Given the description of an element on the screen output the (x, y) to click on. 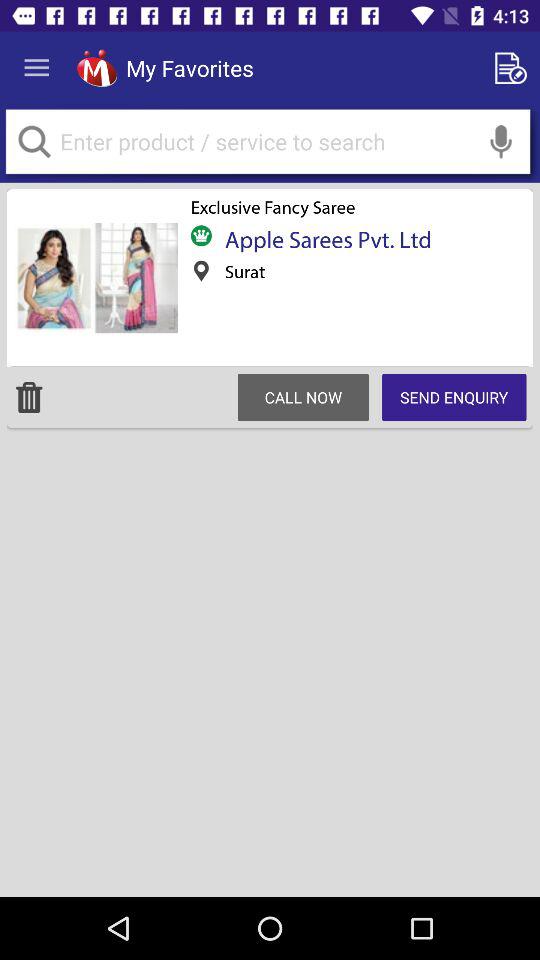
search product or service (267, 141)
